Given the description of an element on the screen output the (x, y) to click on. 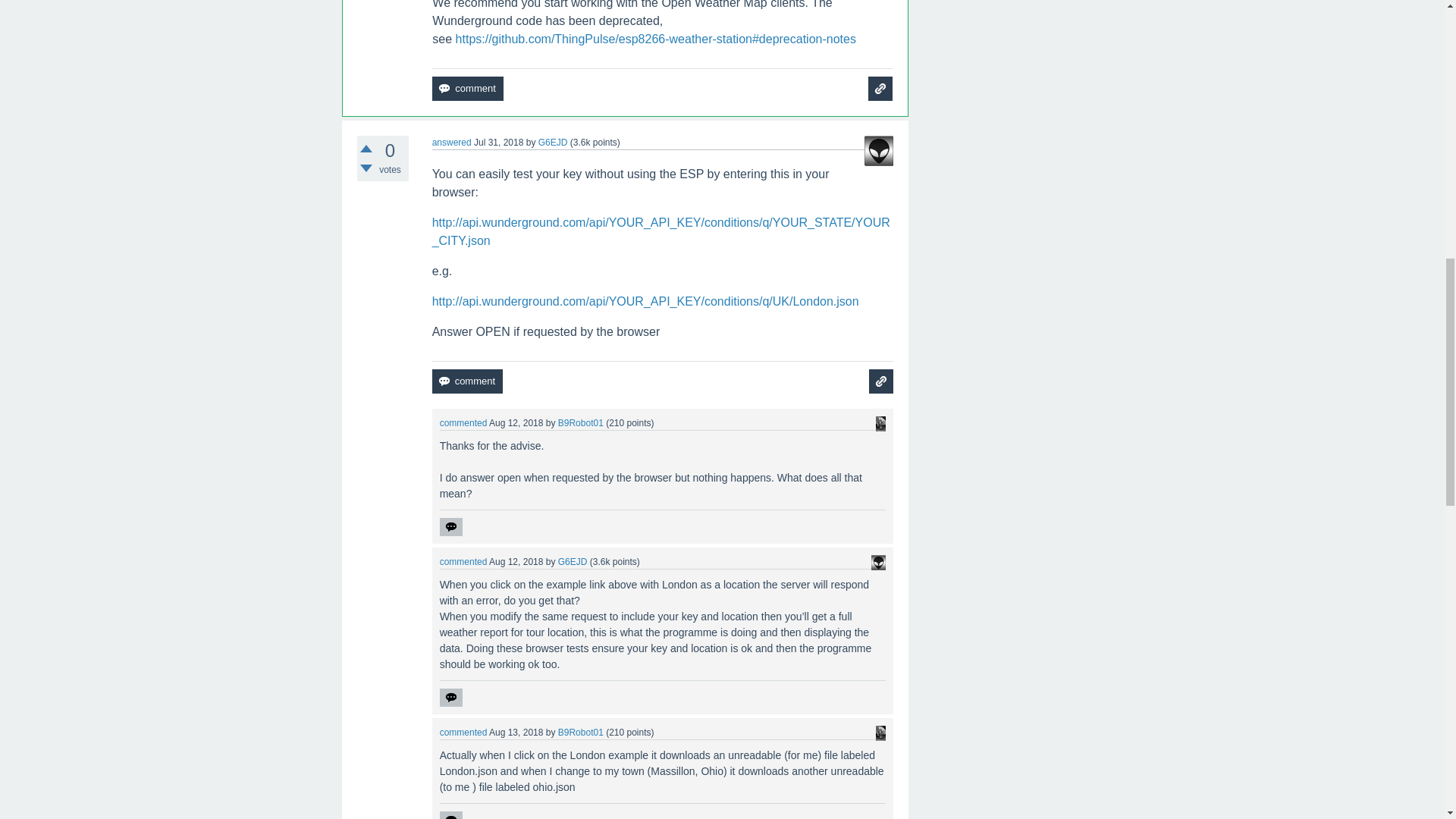
ask related question (879, 88)
Ask a new question relating to this answer (881, 381)
reply (451, 815)
Ask a new question relating to this answer (879, 88)
ask related question (881, 381)
reply (451, 526)
comment (467, 88)
Reply to this comment (451, 526)
Add a comment on this answer (467, 88)
Click to vote up (365, 148)
Add a comment on this answer (467, 381)
ask related question (879, 88)
reply (451, 697)
Click to vote down (365, 167)
comment (467, 381)
